Given the description of an element on the screen output the (x, y) to click on. 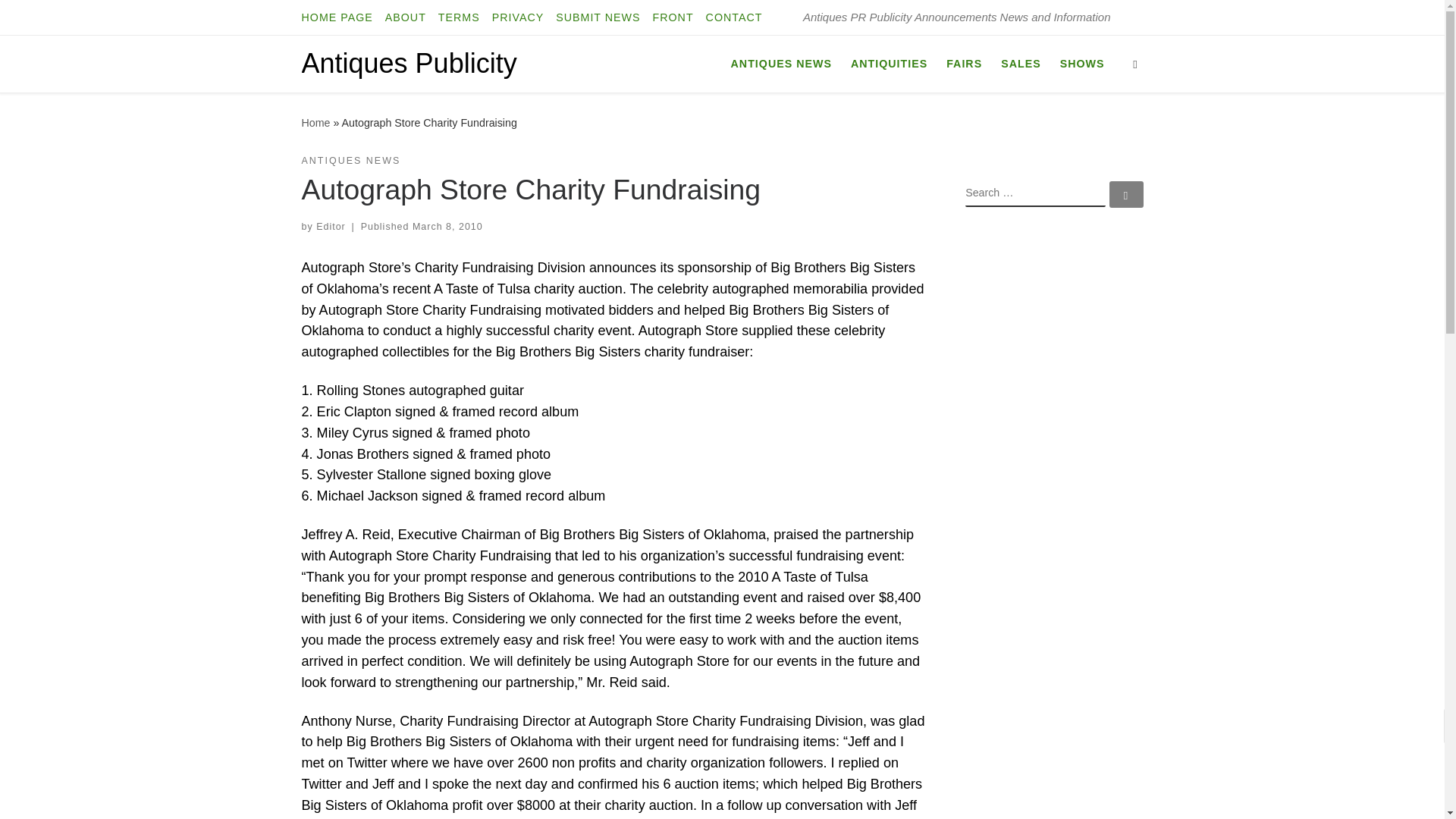
Skip to content (60, 20)
SALES (1020, 63)
View all posts in Antiques News (351, 160)
View all posts by Editor (330, 226)
FRONT (673, 17)
ANTIQUES NEWS (351, 160)
Editor (330, 226)
CONTACT (734, 17)
March 8, 2010 (447, 226)
TERMS (459, 17)
ABOUT (405, 17)
SHOWS (1081, 63)
SUBMIT NEWS (598, 17)
ANTIQUITIES (889, 63)
FAIRS (964, 63)
